Given the description of an element on the screen output the (x, y) to click on. 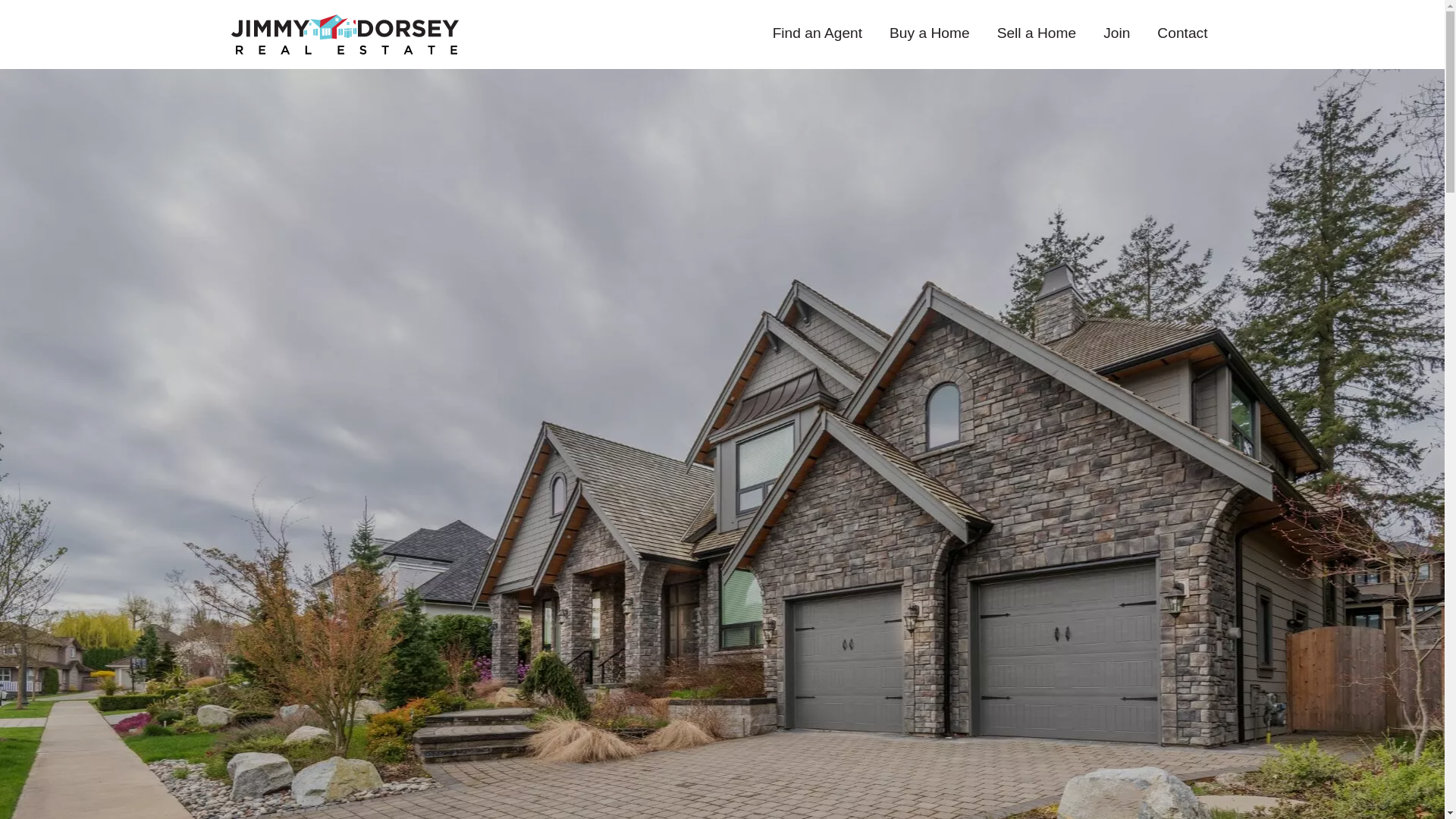
Contact (1181, 34)
Buy a Home (929, 34)
Join (1116, 34)
Find an Agent (817, 34)
Sell a Home (1037, 34)
